Given the description of an element on the screen output the (x, y) to click on. 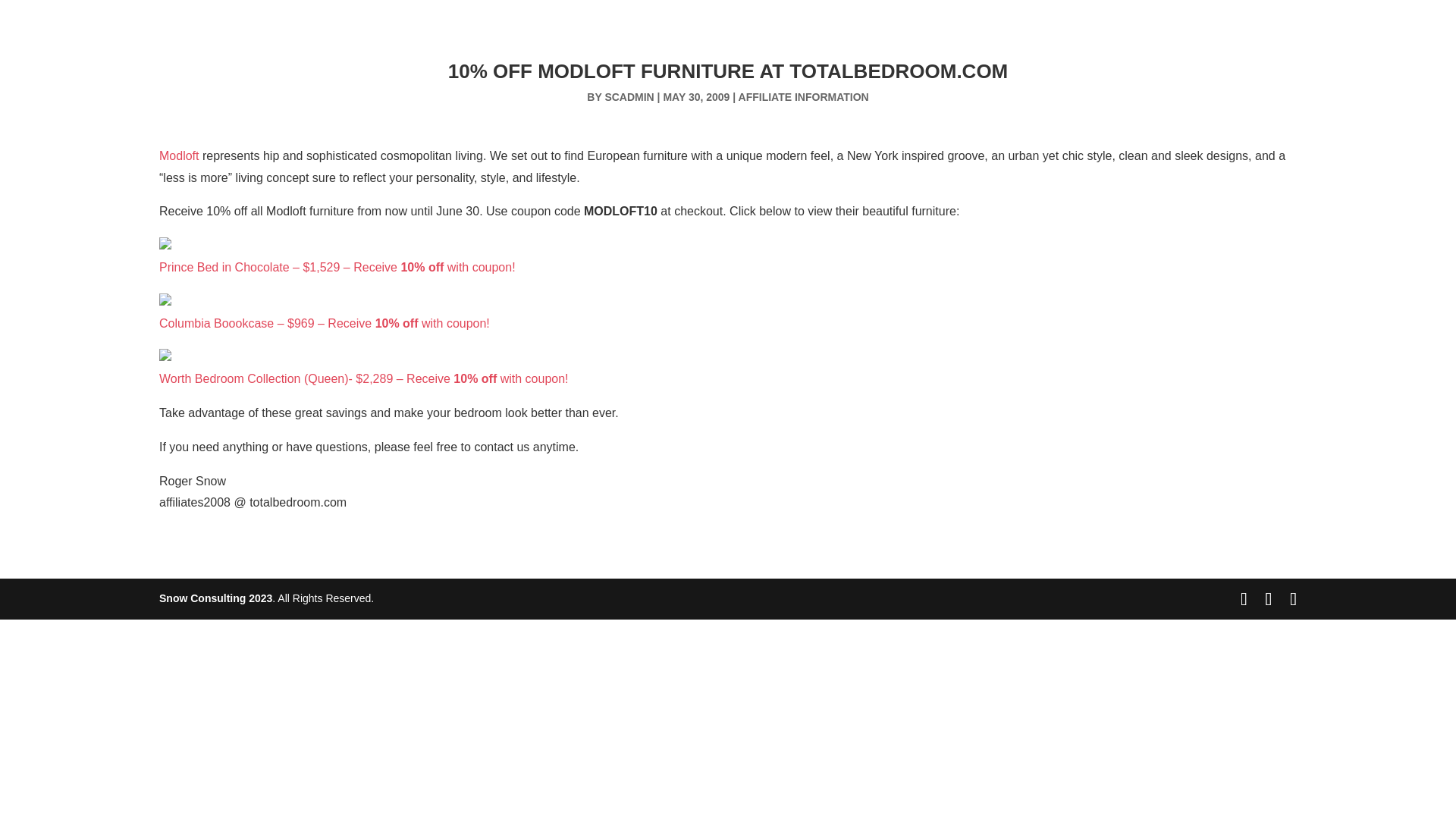
Modloft (178, 155)
Posts by scadmin (628, 96)
AFFILIATE INFORMATION (803, 96)
SCADMIN (628, 96)
